Given the description of an element on the screen output the (x, y) to click on. 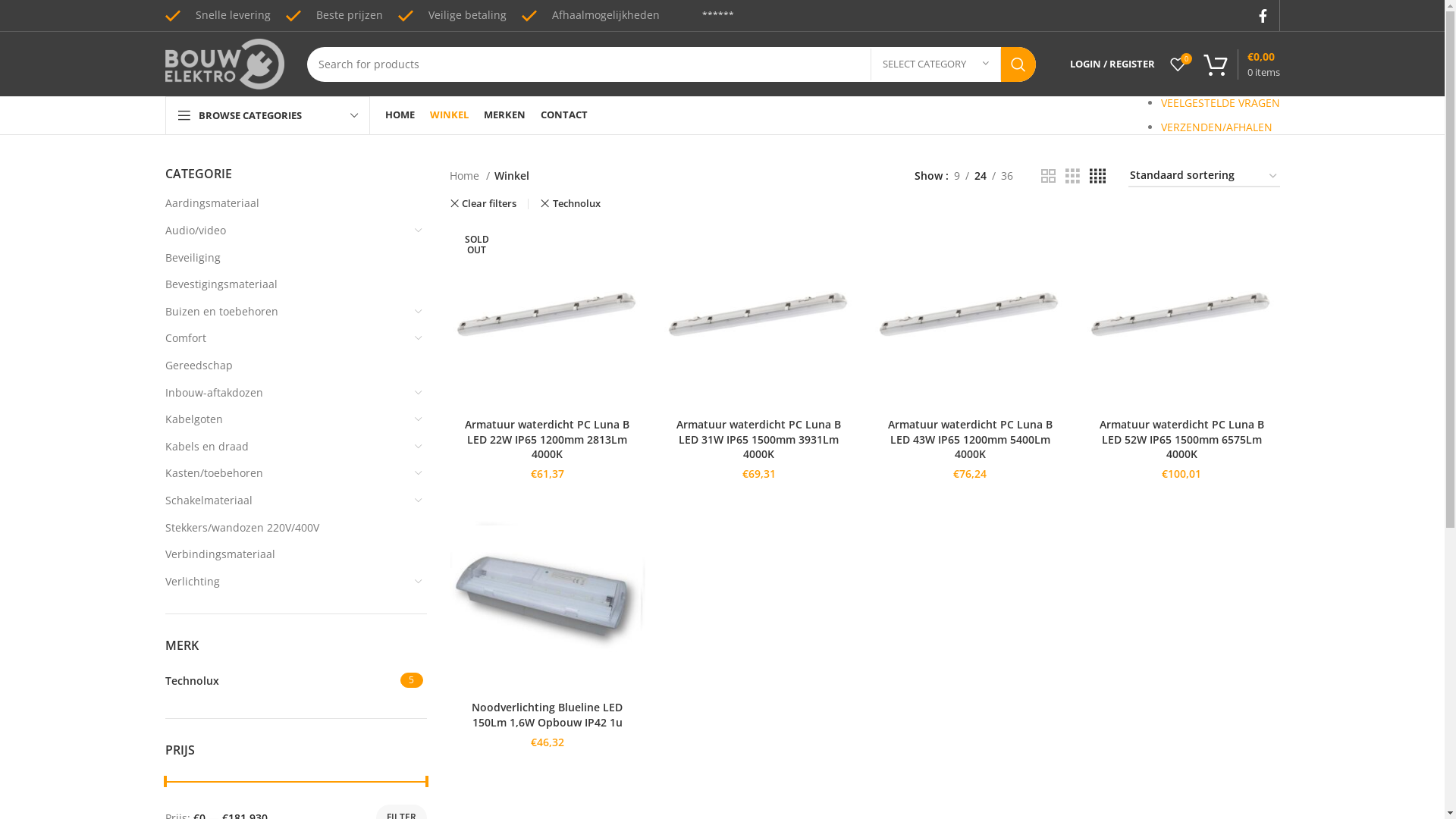
Verbindingsmateriaal Element type: text (286, 553)
CONTACT Element type: text (562, 115)
Aardingsmateriaal Element type: text (286, 202)
HOME Element type: text (399, 115)
0 Element type: text (1176, 63)
Comfort Element type: text (286, 337)
Gereedschap Element type: text (286, 365)
Stekkers/wandozen 220V/400V Element type: text (286, 527)
Audio/video Element type: text (286, 230)
Kabels en draad Element type: text (286, 446)
Bevestigingsmateriaal Element type: text (286, 284)
24 Element type: text (980, 175)
36 Element type: text (1006, 175)
Schakelmateriaal Element type: text (286, 500)
Verlichting Element type: text (286, 581)
Home Element type: text (468, 175)
SOLD OUT Element type: text (547, 315)
Technolux Element type: text (280, 680)
MERKEN Element type: text (504, 115)
Beveiliging Element type: text (286, 257)
Kabelgoten Element type: text (286, 419)
9 Element type: text (956, 175)
WINKEL Element type: text (448, 115)
VERZENDEN/AFHALEN Element type: text (1215, 126)
Technolux Element type: text (569, 203)
Buizen en toebehoren Element type: text (286, 311)
Search for products Element type: hover (670, 64)
SELECT CATEGORY Element type: text (935, 64)
Noodverlichting Blueline LED 150Lm 1,6W Opbouw IP42 1u Element type: text (546, 714)
VEELGESTELDE VRAGEN Element type: text (1219, 102)
Kasten/toebehoren Element type: text (286, 472)
Inbouw-aftakdozen Element type: text (286, 392)
Clear filters Element type: text (482, 203)
LOGIN / REGISTER Element type: text (1111, 63)
SEARCH Element type: text (1018, 64)
